Given the description of an element on the screen output the (x, y) to click on. 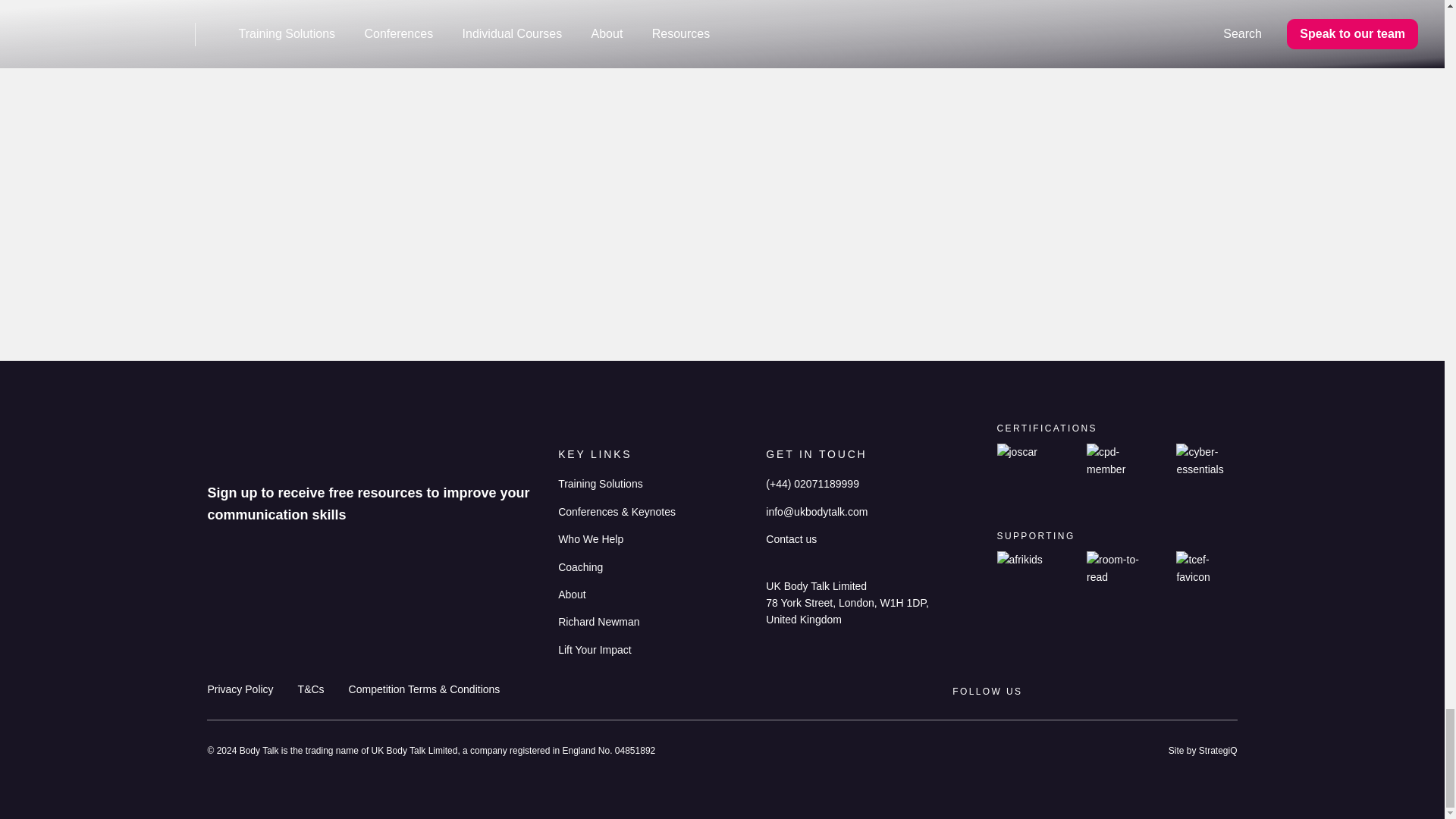
Twitter (1228, 691)
Instagram (1108, 691)
Youtube (1139, 691)
Linkedin (1081, 691)
Tiktok (1168, 691)
Facebook (1198, 691)
